Given the description of an element on the screen output the (x, y) to click on. 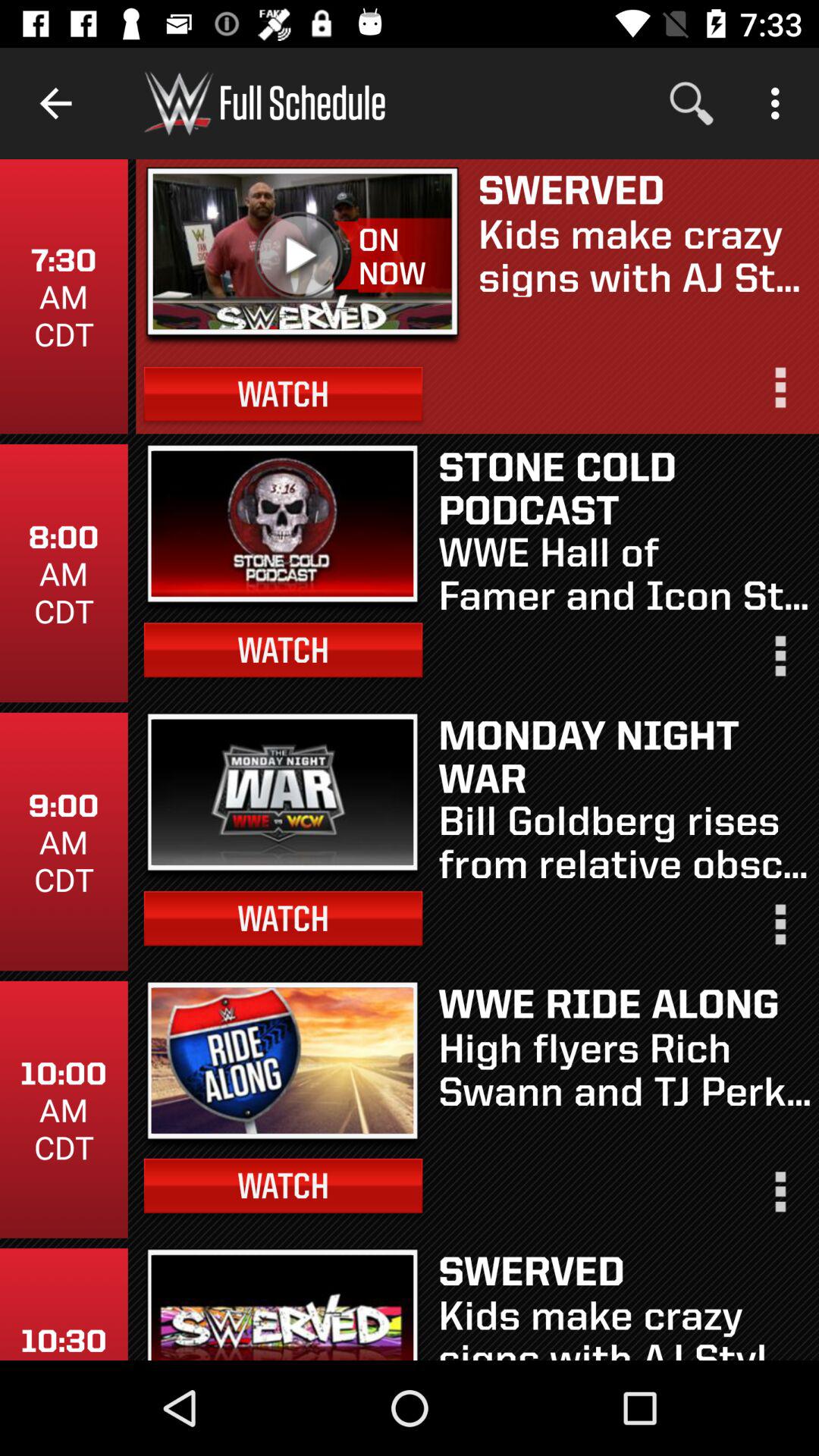
turn off wwe ride along (624, 1003)
